Given the description of an element on the screen output the (x, y) to click on. 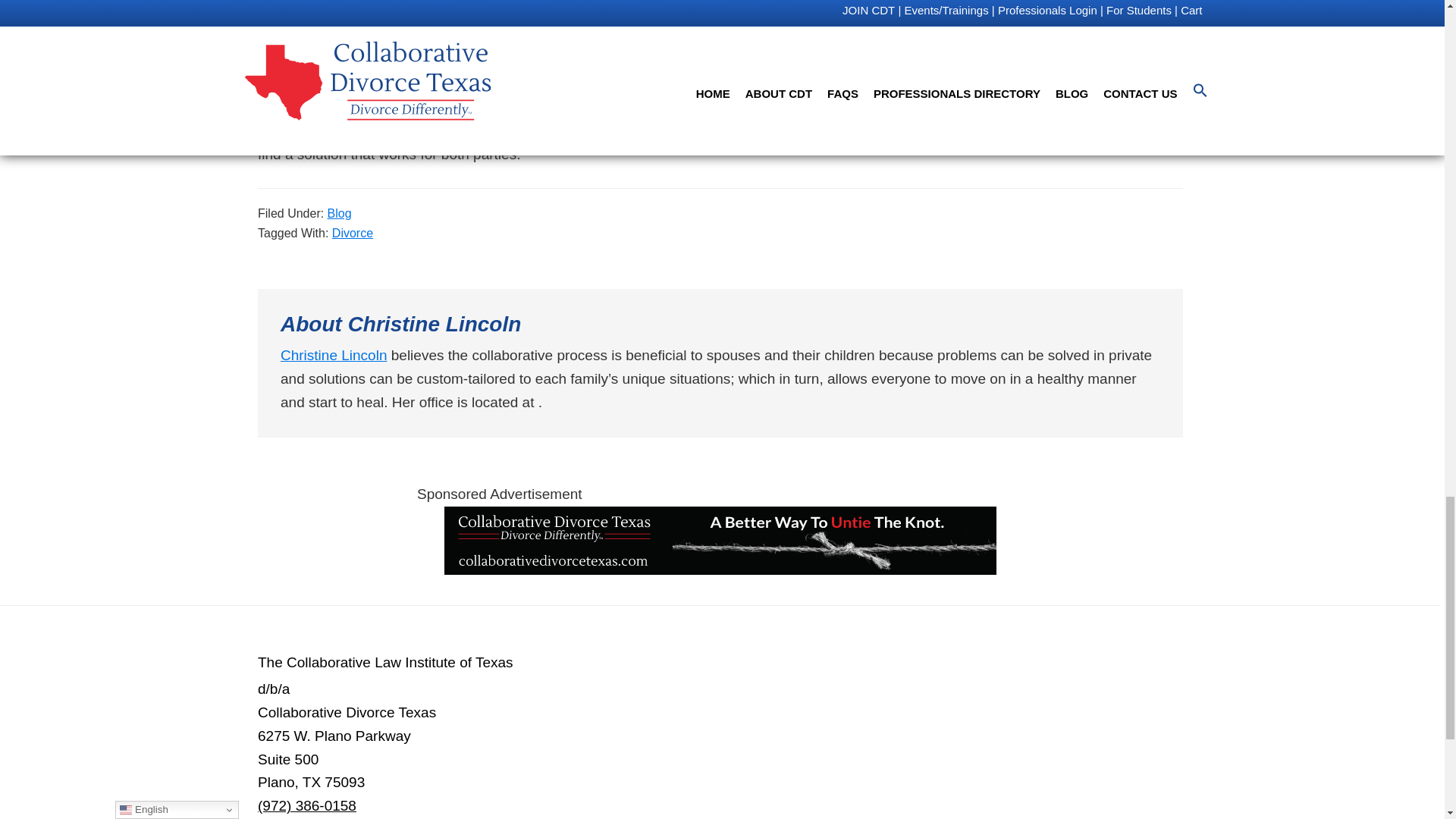
Divorce (351, 232)
Blog (339, 213)
